Given the description of an element on the screen output the (x, y) to click on. 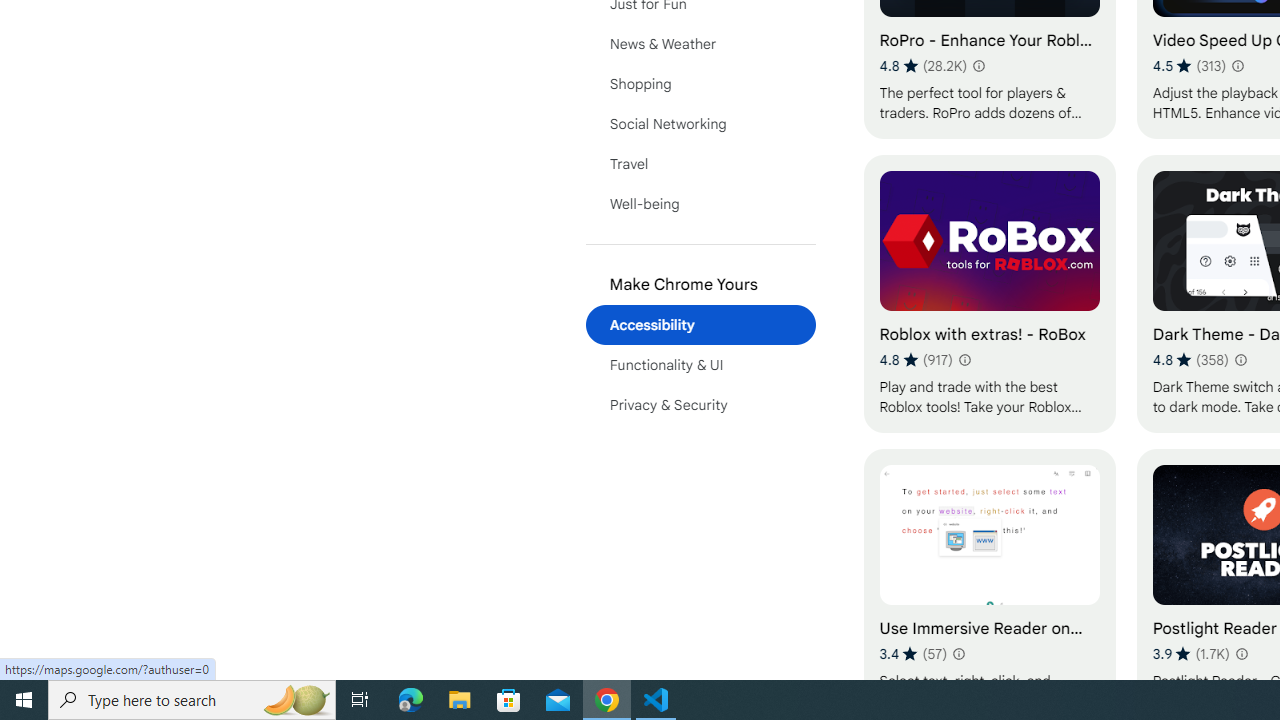
Roblox with extras! - RoBox (989, 293)
Average rating 4.8 out of 5 stars. 358 ratings. (1190, 359)
Learn more about results and reviews "Postlight Reader" (1240, 654)
Average rating 4.8 out of 5 stars. 28.2K ratings. (923, 66)
Average rating 4.5 out of 5 stars. 313 ratings. (1189, 66)
Average rating 3.9 out of 5 stars. 1.7K ratings. (1191, 653)
Social Networking (700, 123)
Average rating 3.4 out of 5 stars. 57 ratings. (913, 653)
Travel (700, 164)
Functionality & UI (700, 364)
Well-being (700, 203)
Average rating 4.8 out of 5 stars. 917 ratings. (916, 359)
